Given the description of an element on the screen output the (x, y) to click on. 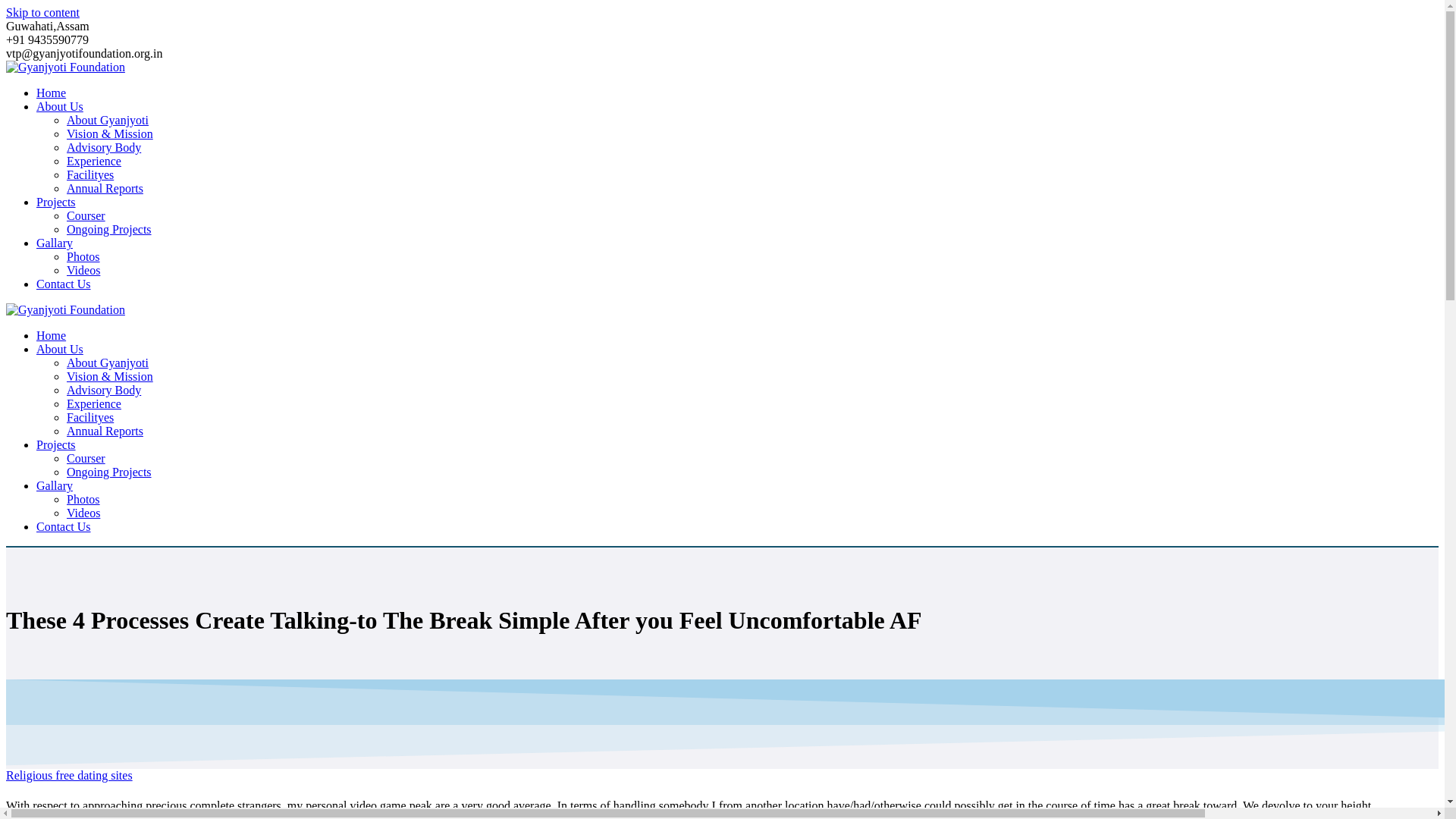
Contact Us (63, 526)
Annual Reports (104, 431)
Religious free dating sites (68, 775)
Ongoing Projects (108, 472)
Videos (83, 512)
Home (50, 335)
About Gyanjyoti (107, 119)
Courser (85, 215)
Photos (83, 256)
Experience (93, 403)
